Given the description of an element on the screen output the (x, y) to click on. 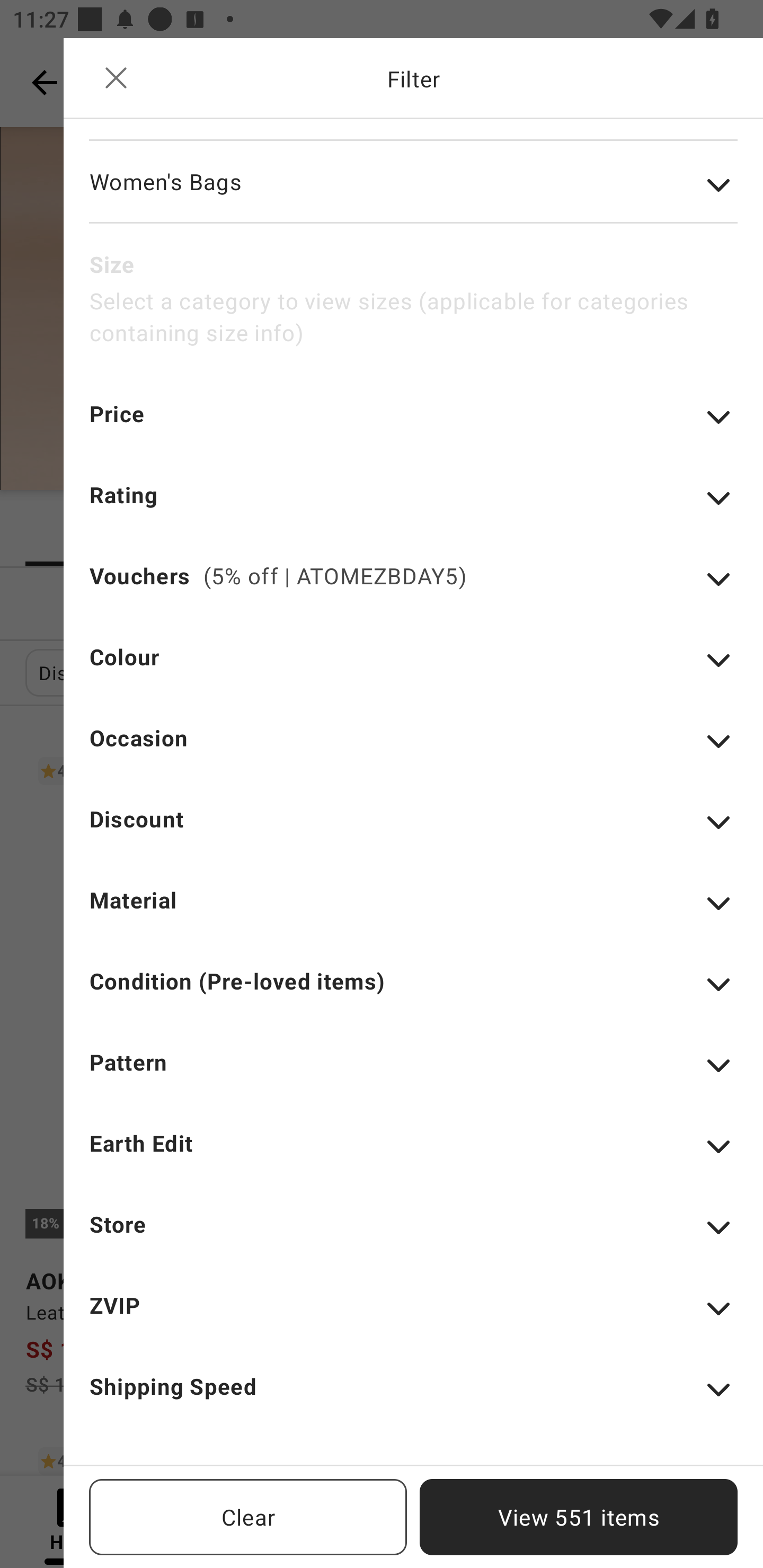
Women's Bags (413, 195)
Price (413, 426)
Rating (413, 506)
Vouchers (5% off | ATOMEZBDAY5) (413, 587)
Colour (413, 669)
Occasion (413, 749)
Discount (413, 830)
Material (413, 912)
Condition (Pre-loved items) (413, 992)
Pattern (413, 1074)
Earth Edit (413, 1155)
Store (413, 1235)
ZVIP (413, 1317)
Shipping Speed (413, 1398)
Clear (247, 1516)
View 551 items (578, 1516)
